Given the description of an element on the screen output the (x, y) to click on. 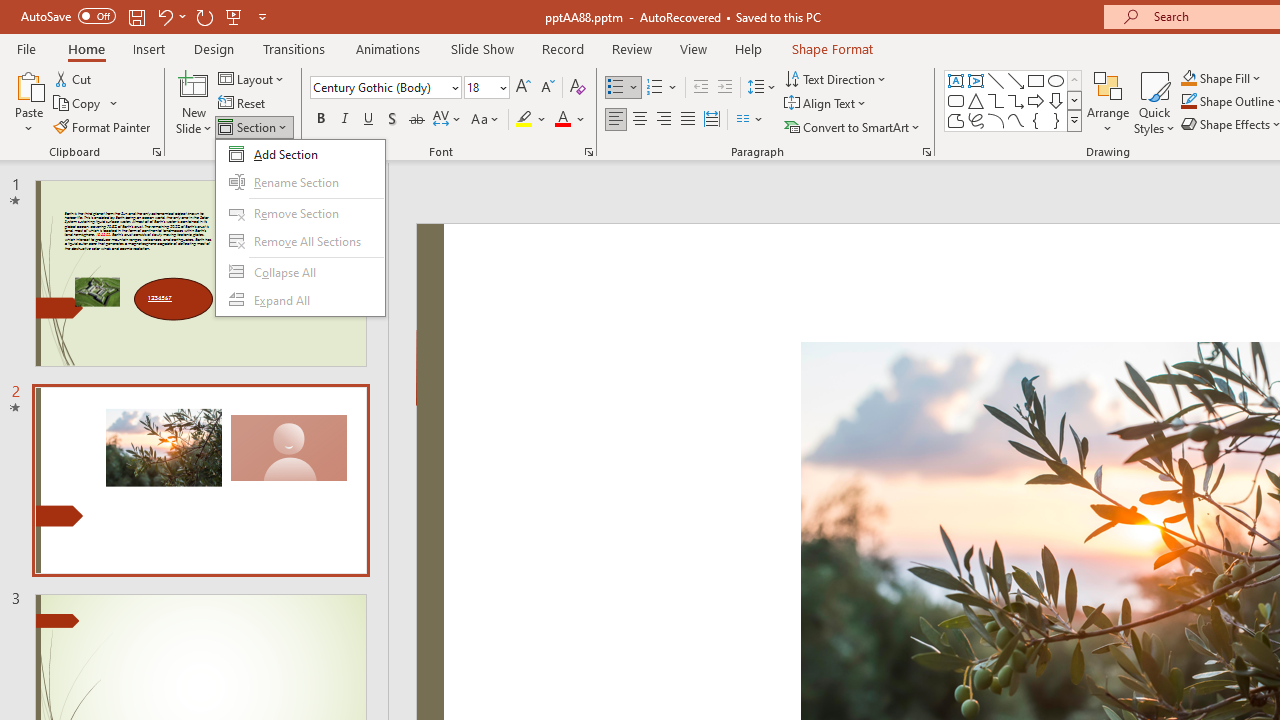
Shape Fill Aqua, Accent 2 (1188, 78)
